Given the description of an element on the screen output the (x, y) to click on. 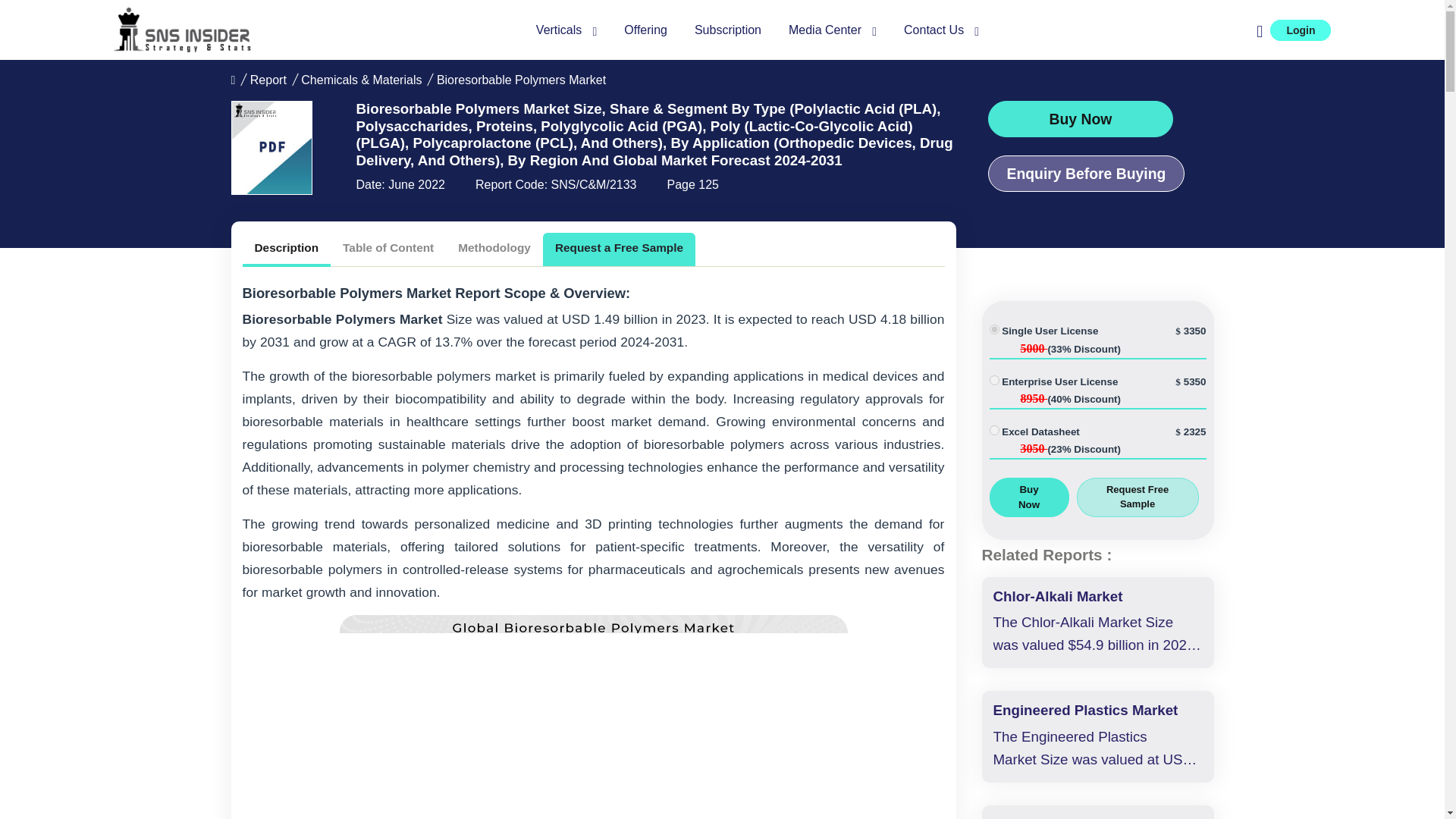
Contact Us (941, 30)
Verticals (565, 30)
Report (268, 79)
Login (1299, 29)
Subscription (727, 30)
Buy Now (1080, 118)
Table of Content (387, 247)
Methodology (494, 247)
Enquiry Before Buying (1086, 173)
Media Center (832, 30)
